Given the description of an element on the screen output the (x, y) to click on. 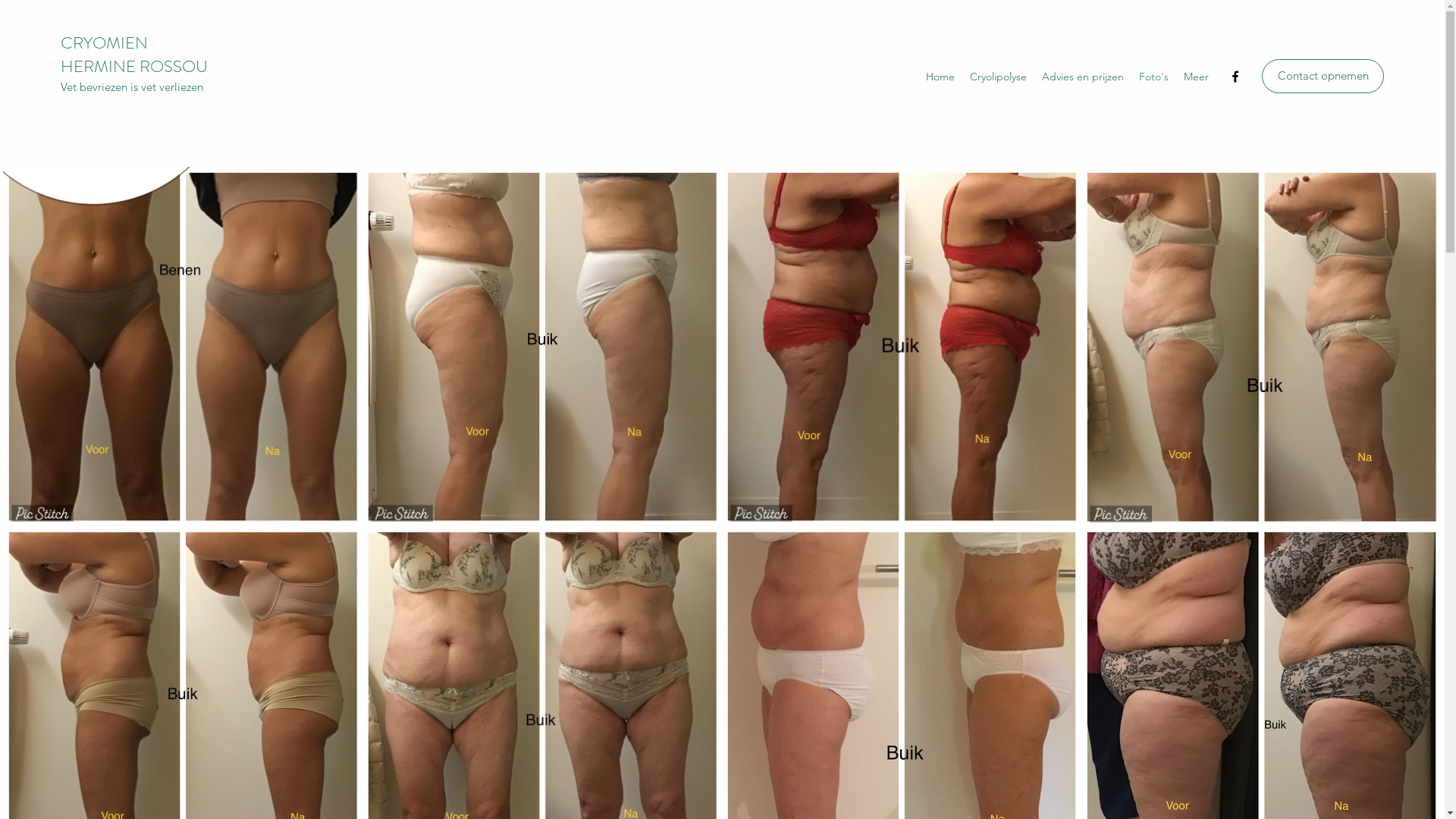
CRYOMIEN Element type: text (103, 42)
Advies en prijzen Element type: text (1082, 76)
Foto's Element type: text (1153, 76)
Cryolipolyse Element type: text (998, 76)
Contact opnemen Element type: text (1322, 76)
Home Element type: text (940, 76)
